Given the description of an element on the screen output the (x, y) to click on. 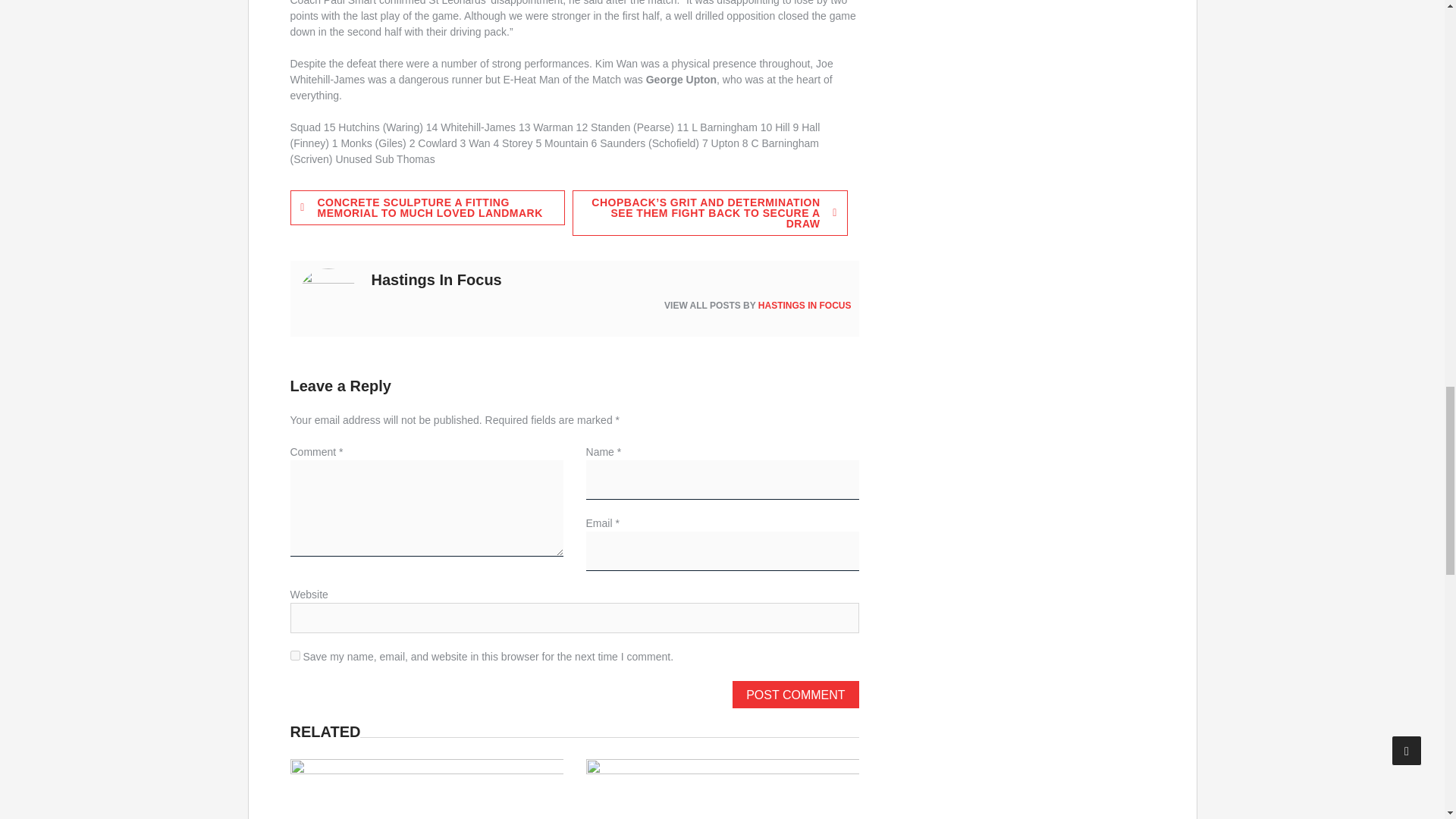
yes (294, 655)
Post Comment (795, 694)
HASTINGS IN FOCUS (804, 305)
CONCRETE SCULPTURE A FITTING MEMORIAL TO MUCH LOVED LANDMARK (426, 207)
Post Comment (795, 694)
